Given the description of an element on the screen output the (x, y) to click on. 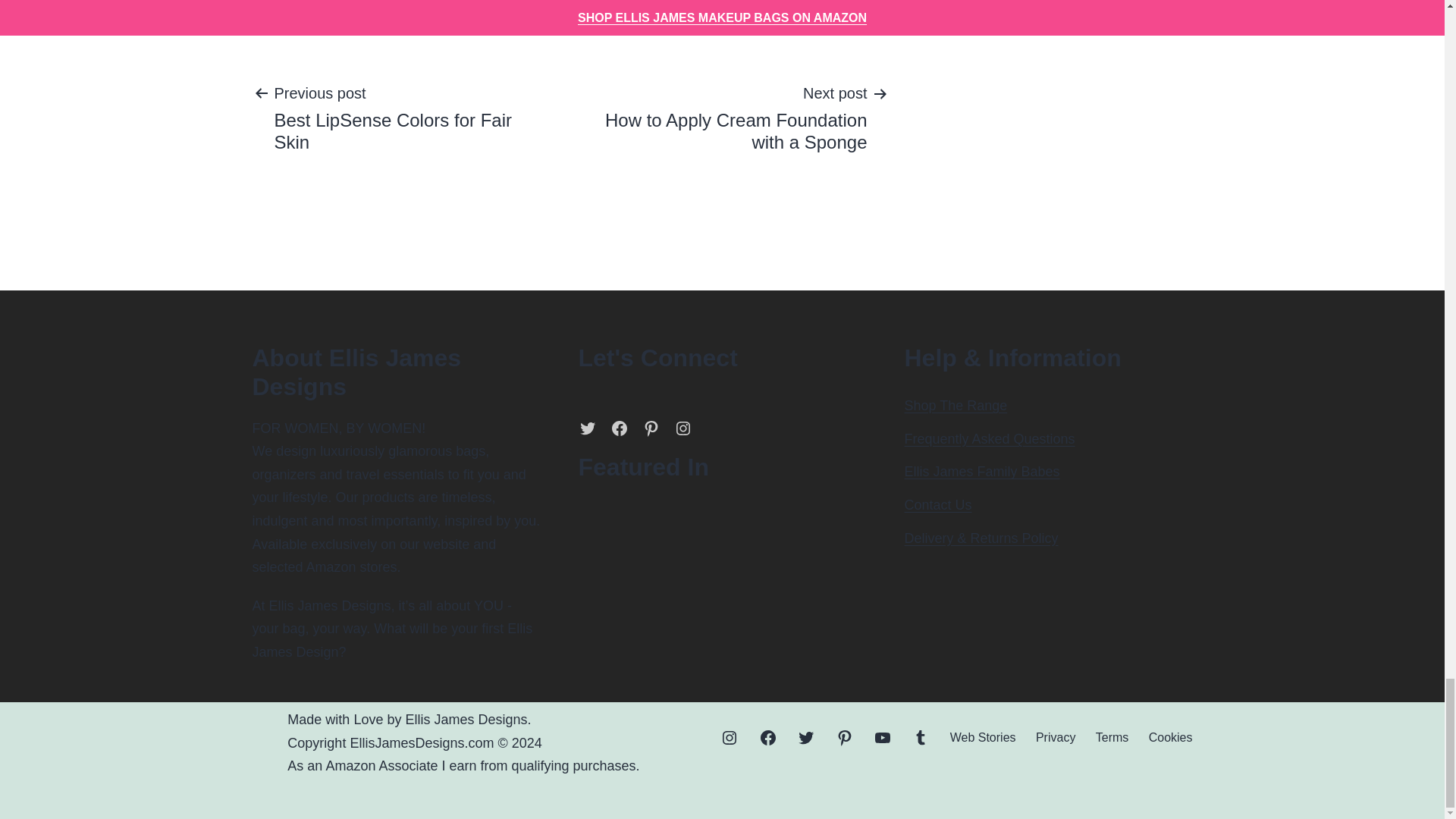
View all of Ellis James's posts. (426, 4)
